Given the description of an element on the screen output the (x, y) to click on. 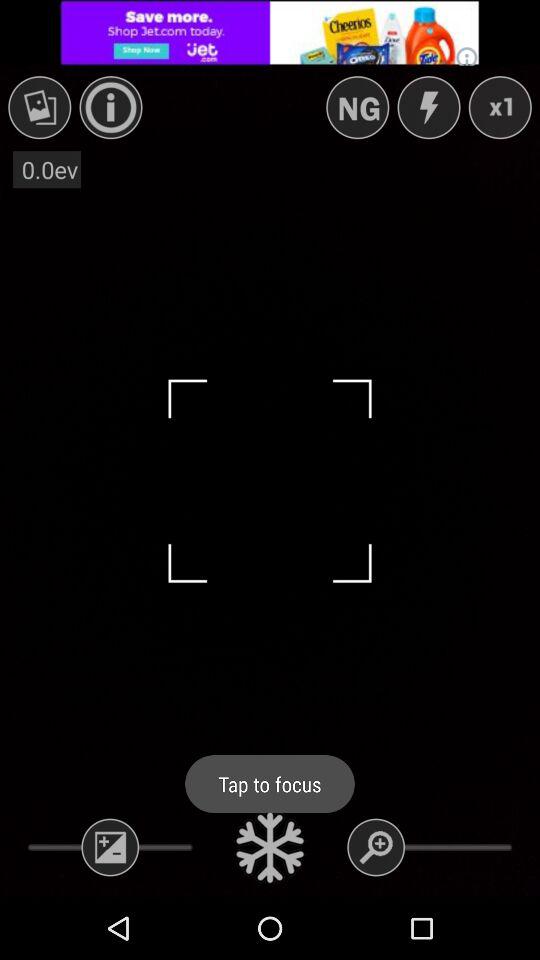
advertisement page (270, 32)
